Given the description of an element on the screen output the (x, y) to click on. 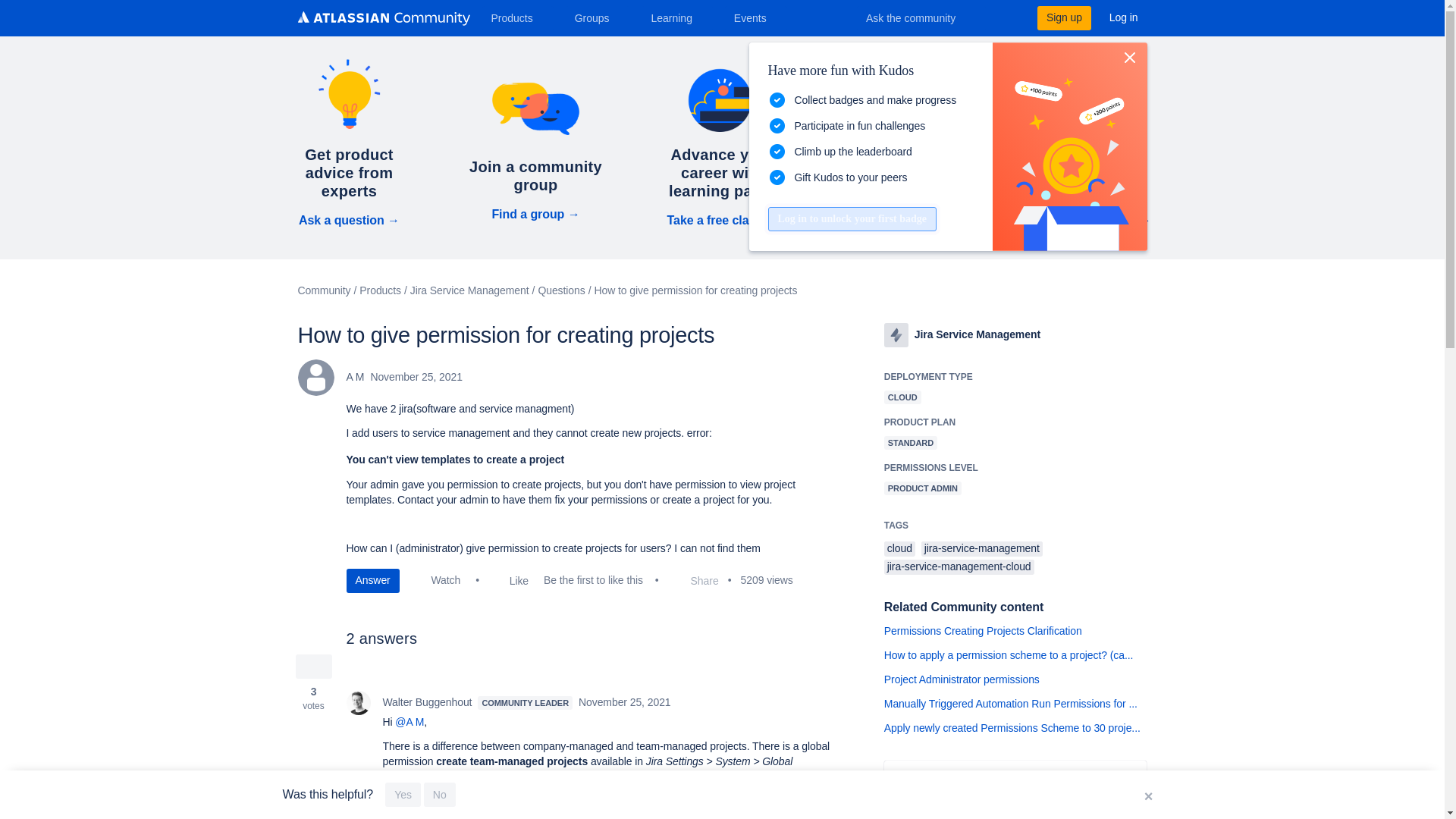
Ask the community  (921, 17)
Atlassian Community logo (382, 19)
Walter Buggenhout (357, 702)
Groups (598, 17)
Jira Service Desk (895, 334)
Log in (1123, 17)
A M (315, 377)
Sign up (1063, 17)
Learning (676, 17)
Events (756, 17)
Atlassian Community logo (382, 18)
Products (517, 17)
Log in to unlock your first badge (851, 218)
